Given the description of an element on the screen output the (x, y) to click on. 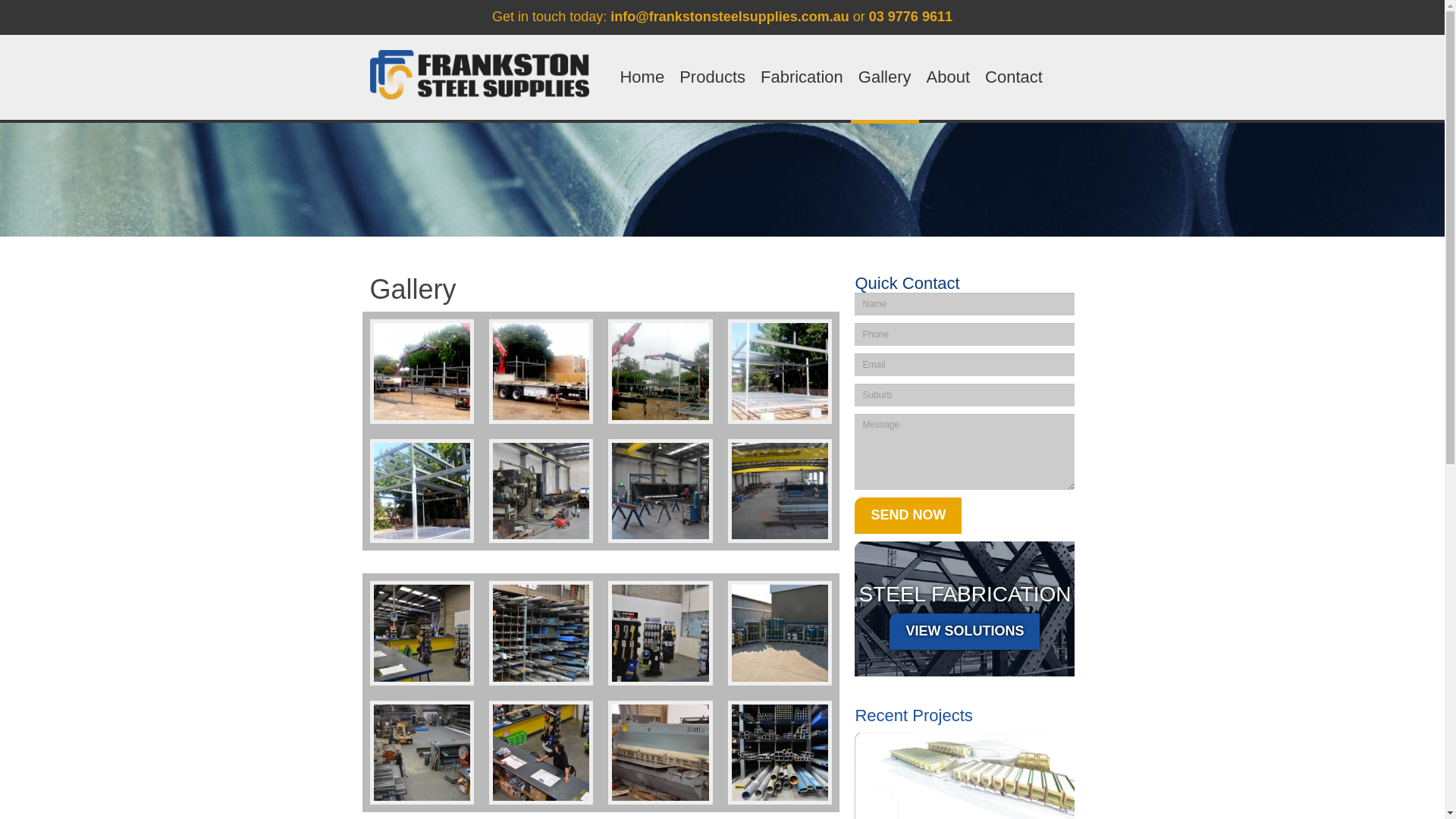
Fabrication Element type: text (801, 76)
Send Now Element type: text (907, 515)
Products Element type: text (712, 76)
VIEW SOLUTIONS Element type: text (964, 631)
03 9776 9611 Element type: text (910, 16)
info@frankstonsteelsupplies.com.au Element type: text (729, 16)
Home Element type: text (641, 76)
Contact Element type: text (1013, 76)
About Element type: text (948, 76)
Gallery Element type: text (884, 76)
